Given the description of an element on the screen output the (x, y) to click on. 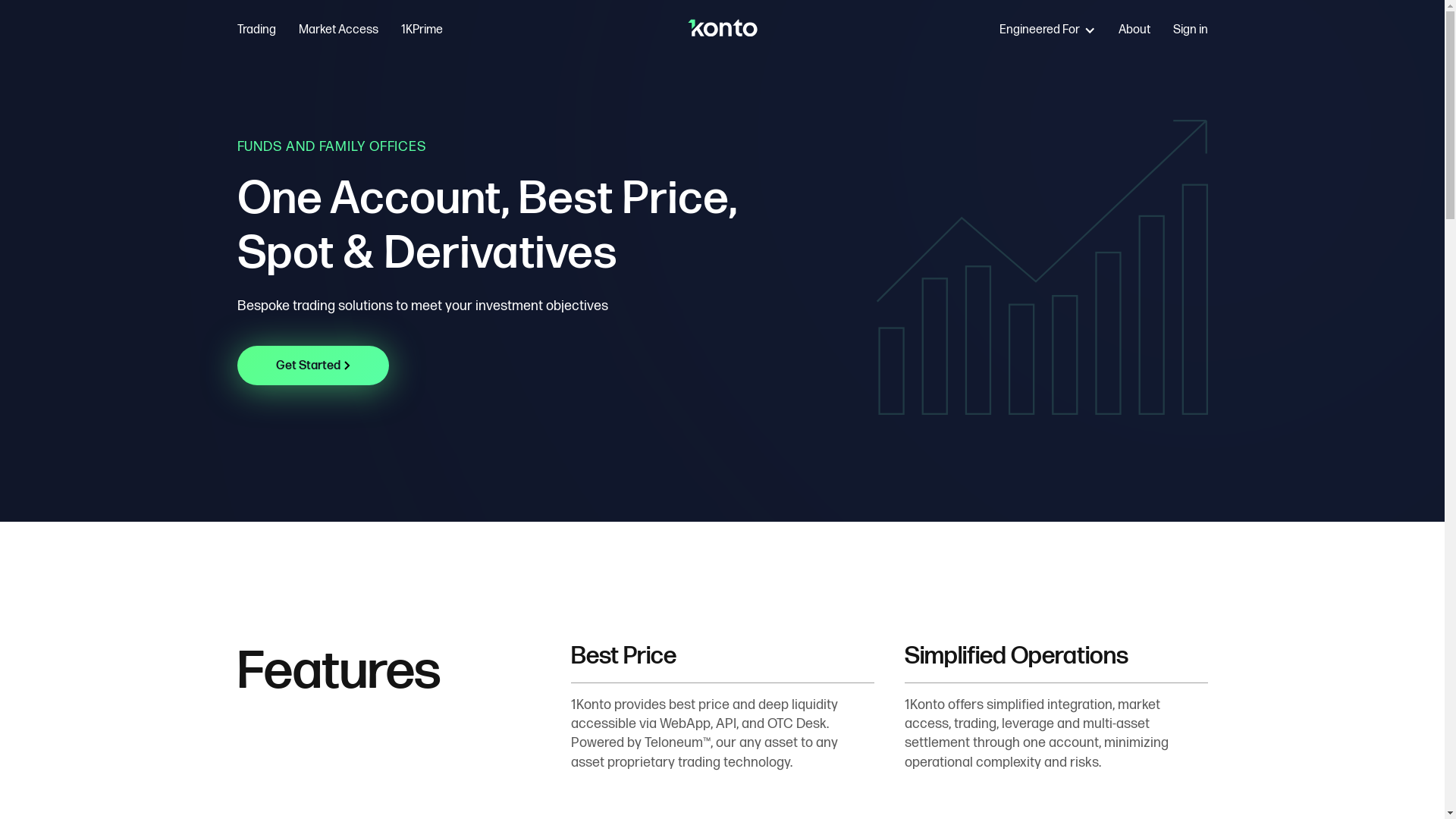
Get Started Element type: text (312, 365)
Sign in Element type: text (1189, 30)
Trading Element type: text (255, 30)
1KPrime Element type: text (421, 30)
Market Access Element type: text (338, 30)
About Element type: text (1133, 30)
